Given the description of an element on the screen output the (x, y) to click on. 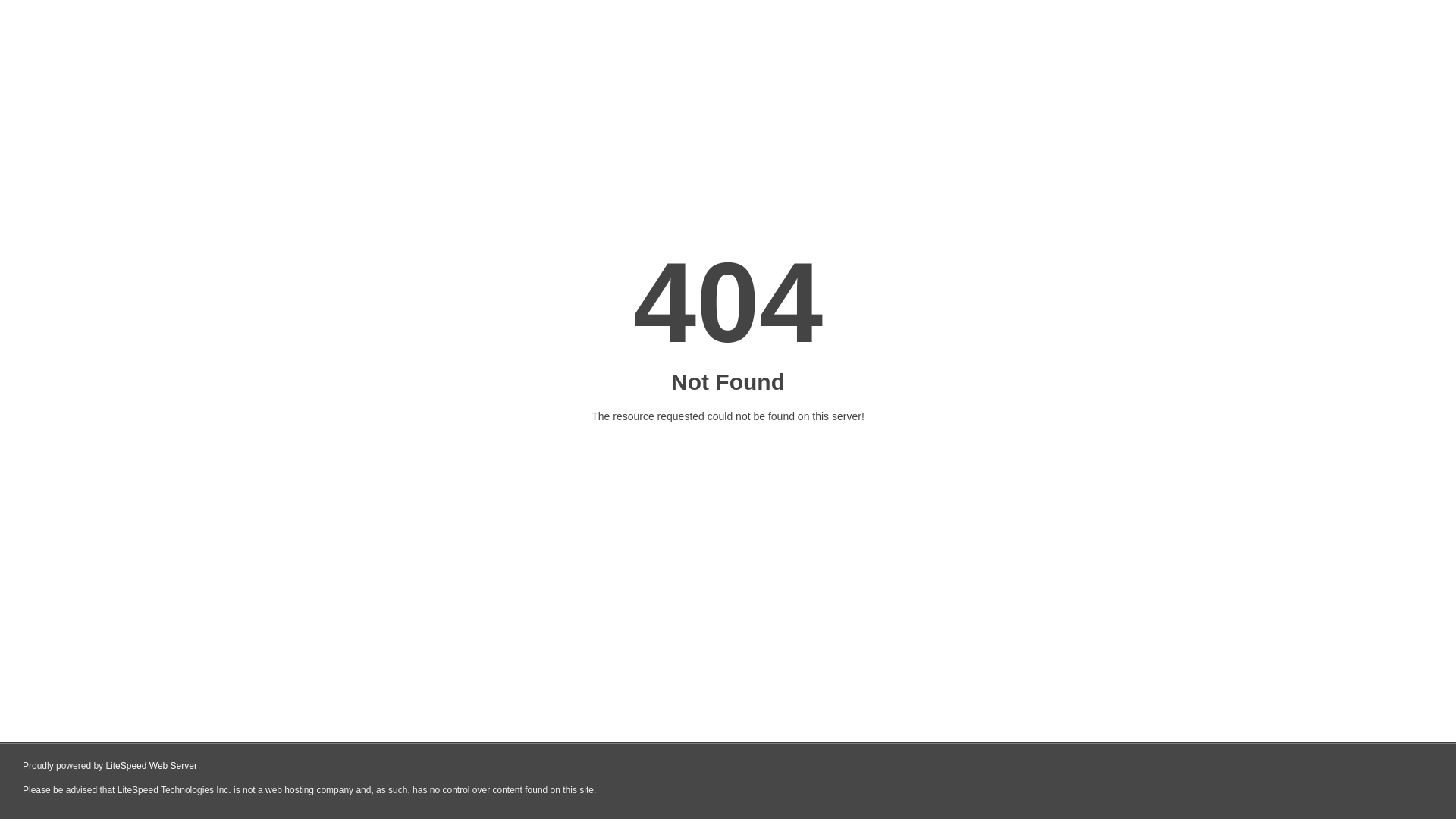
LiteSpeed Web Server Element type: text (151, 765)
